Given the description of an element on the screen output the (x, y) to click on. 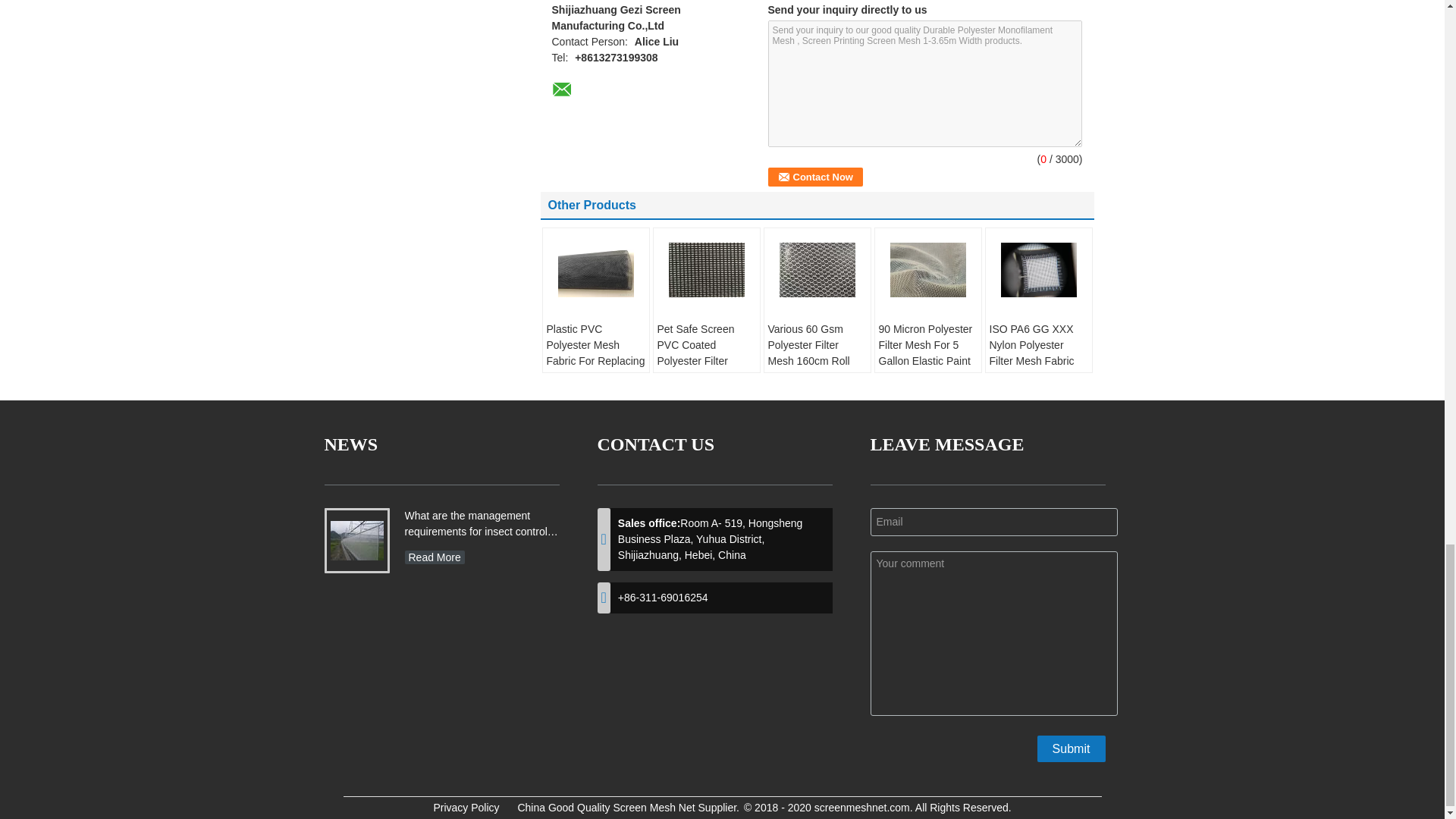
Contact Now (814, 176)
Submit (1070, 748)
